Given the description of an element on the screen output the (x, y) to click on. 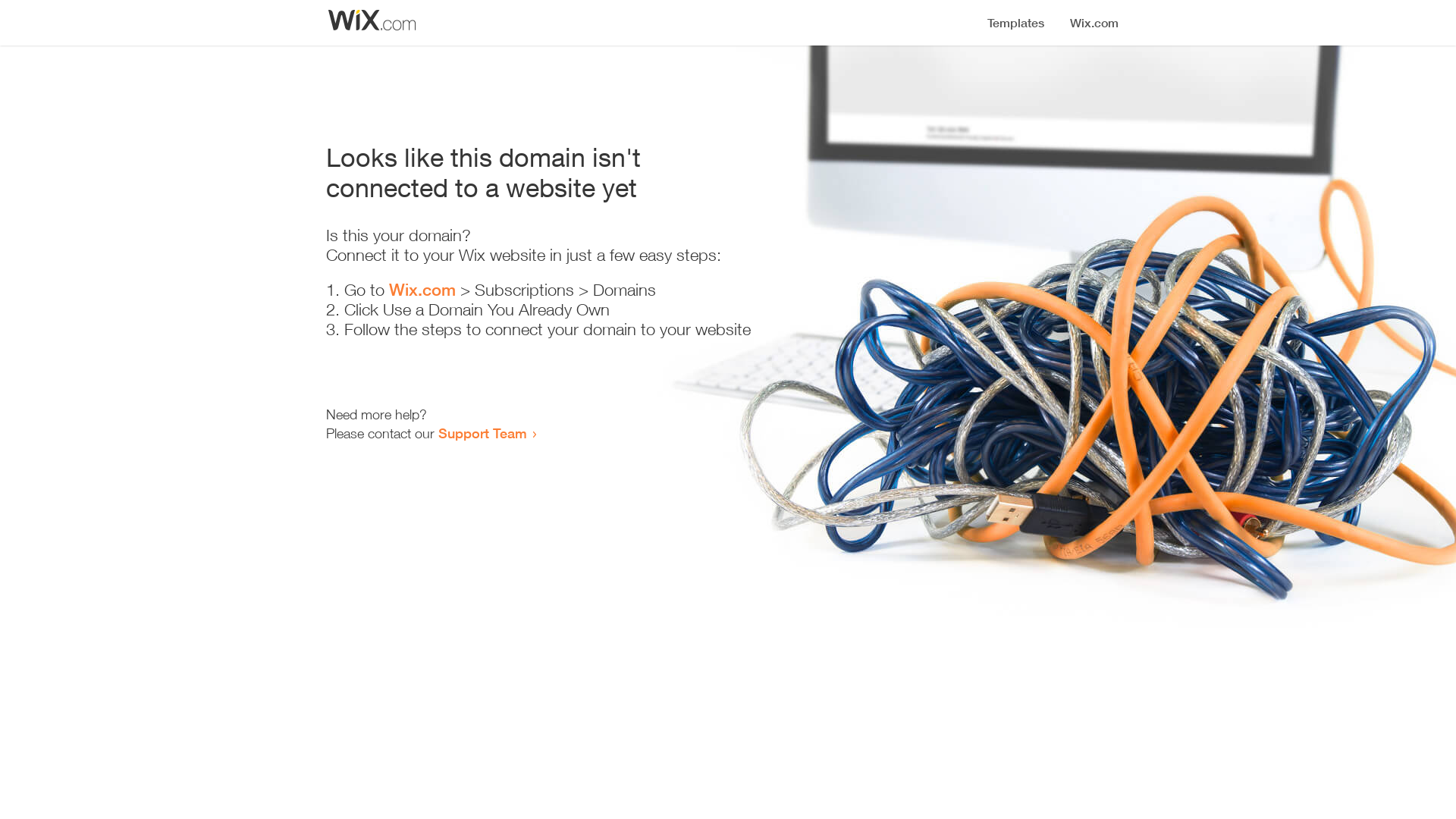
Wix.com Element type: text (422, 289)
Support Team Element type: text (482, 432)
